Given the description of an element on the screen output the (x, y) to click on. 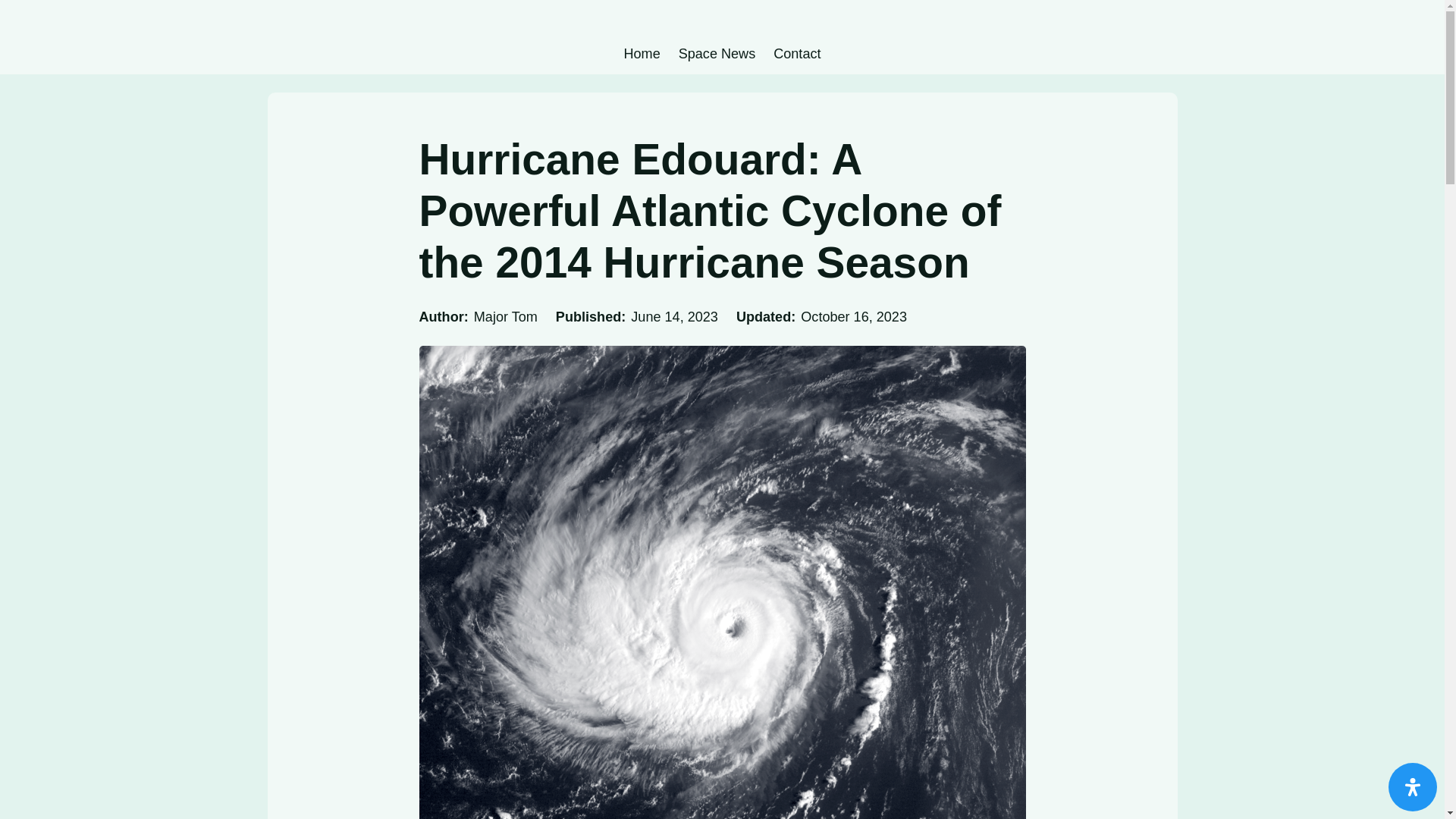
Space News (716, 53)
Contact (797, 53)
Home (641, 53)
